Given the description of an element on the screen output the (x, y) to click on. 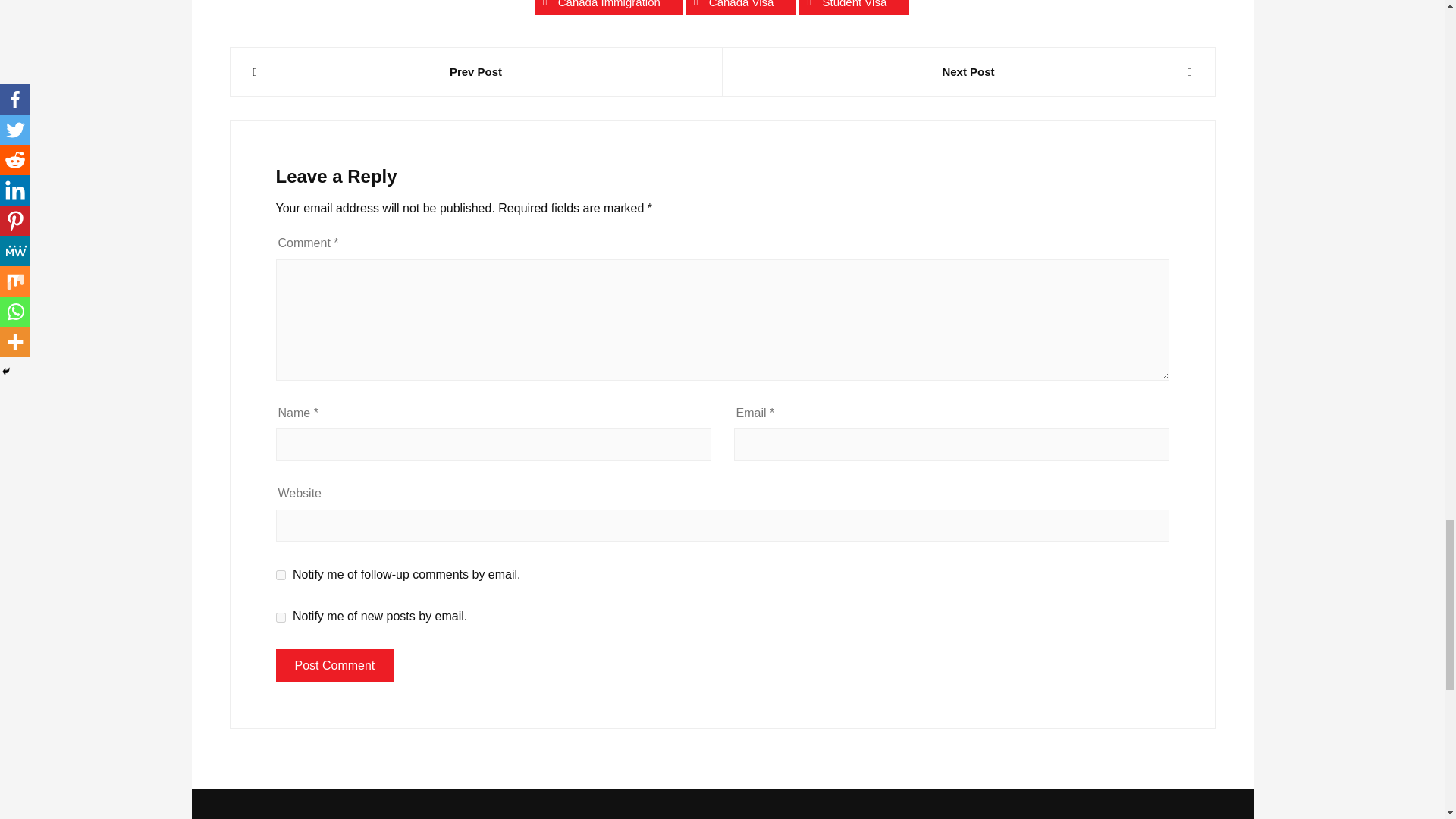
subscribe (280, 617)
Post Comment (335, 665)
subscribe (280, 574)
